Given the description of an element on the screen output the (x, y) to click on. 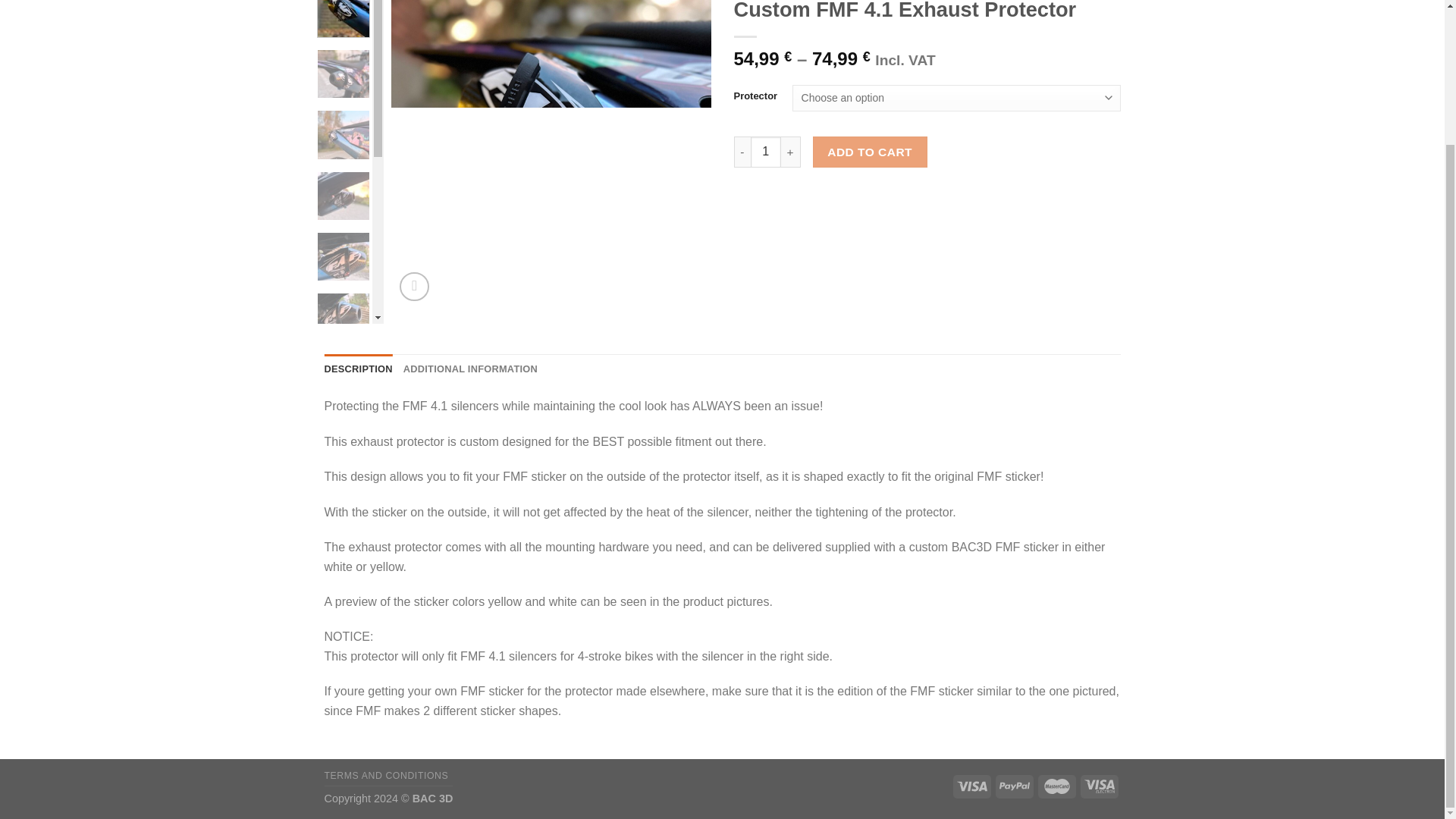
Zoom (413, 286)
ADD TO CART (869, 151)
1 (765, 151)
